Given the description of an element on the screen output the (x, y) to click on. 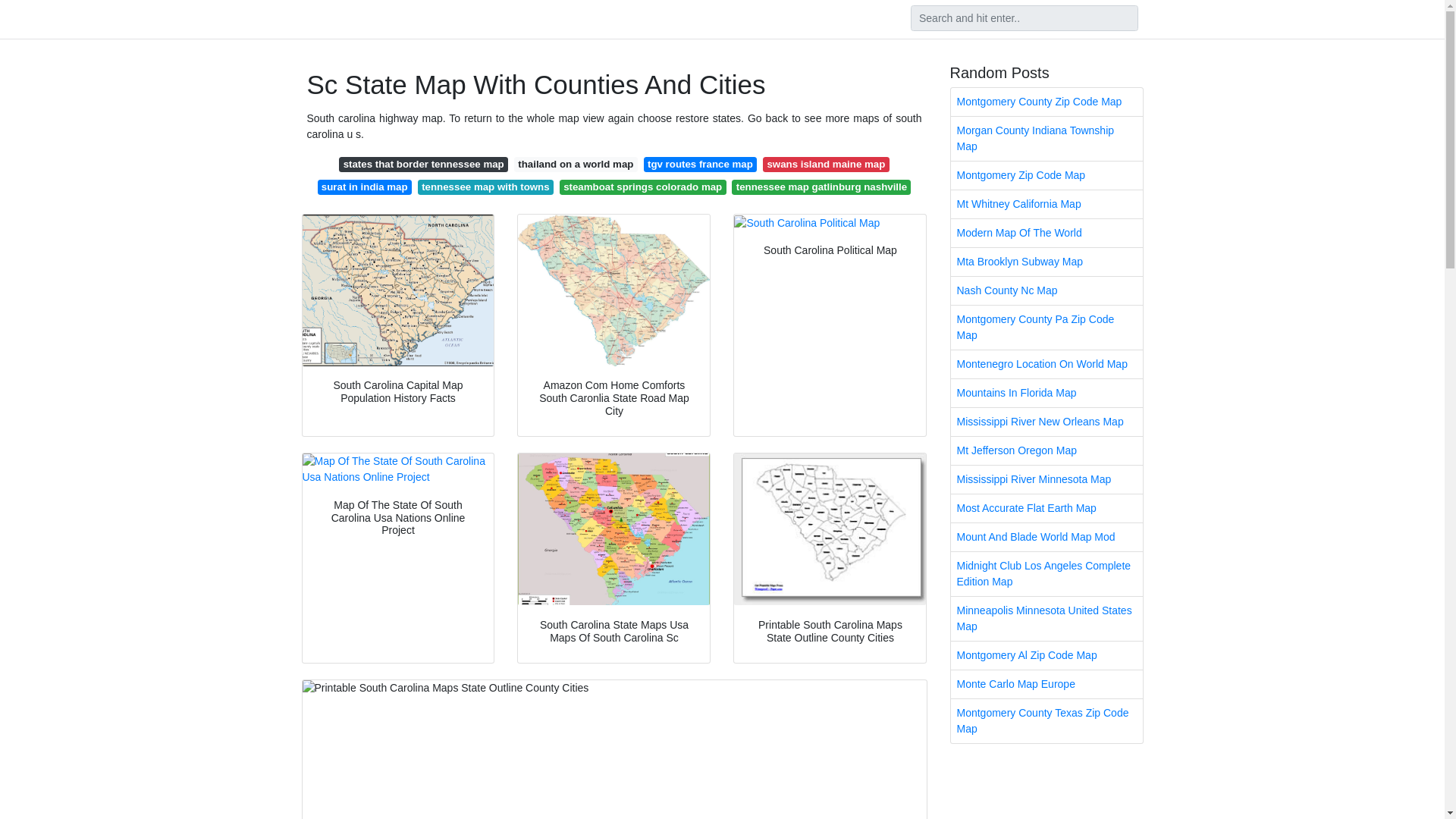
Mta Brooklyn Subway Map (1046, 262)
Mt Whitney California Map (1046, 204)
Modern Map Of The World (1046, 233)
Montenegro Location On World Map (1046, 364)
Morgan County Indiana Township Map (1046, 138)
Nash County Nc Map (1046, 290)
tgv routes france map (700, 164)
Montgomery County Pa Zip Code Map (1046, 327)
Montgomery County Zip Code Map (1046, 101)
thailand on a world map (575, 164)
